Given the description of an element on the screen output the (x, y) to click on. 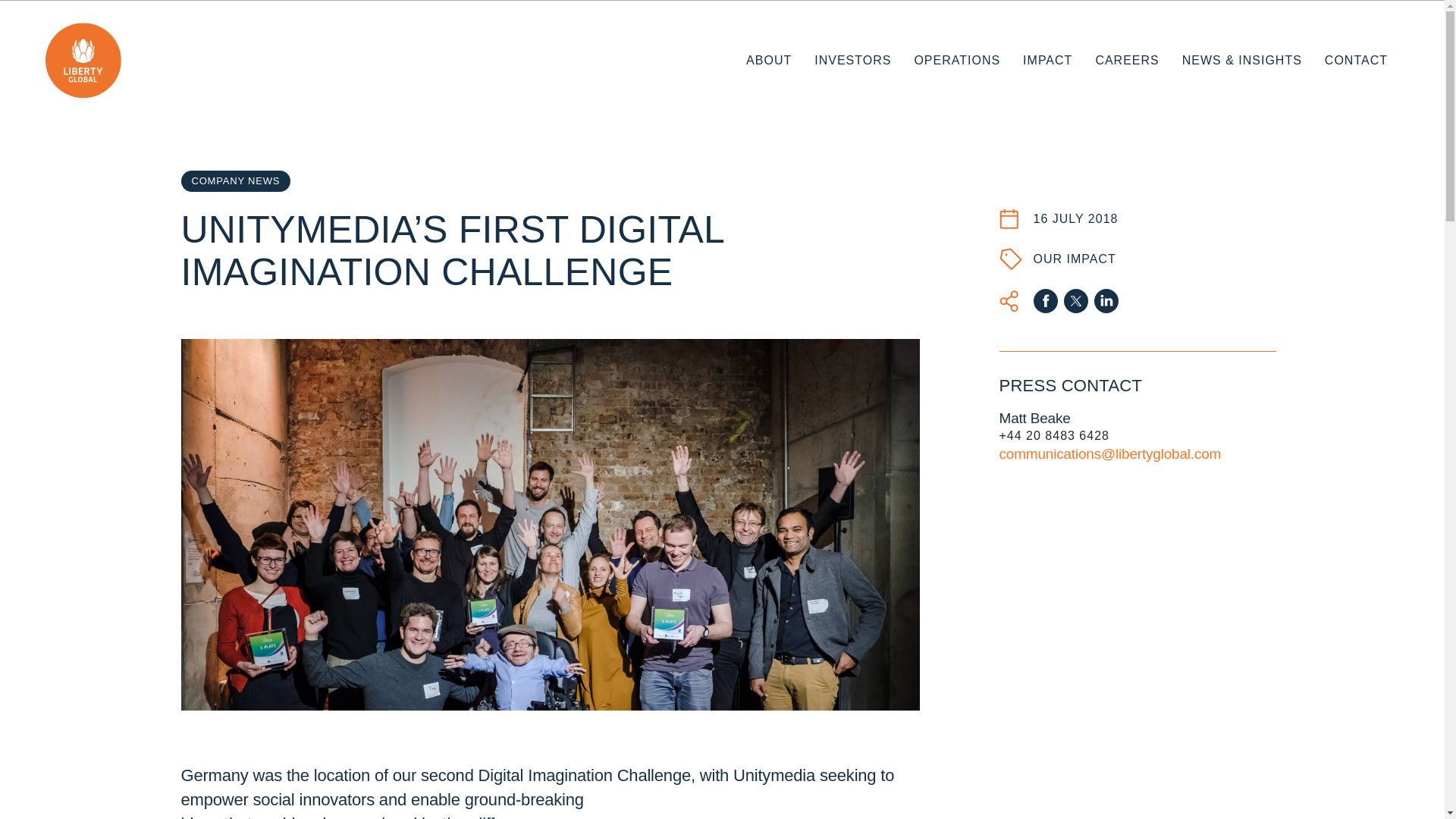
CAREERS (1126, 60)
IMPACT (1047, 60)
OPERATIONS (956, 60)
INVESTORS (852, 60)
CONTACT (1356, 60)
ABOUT (769, 60)
